Given the description of an element on the screen output the (x, y) to click on. 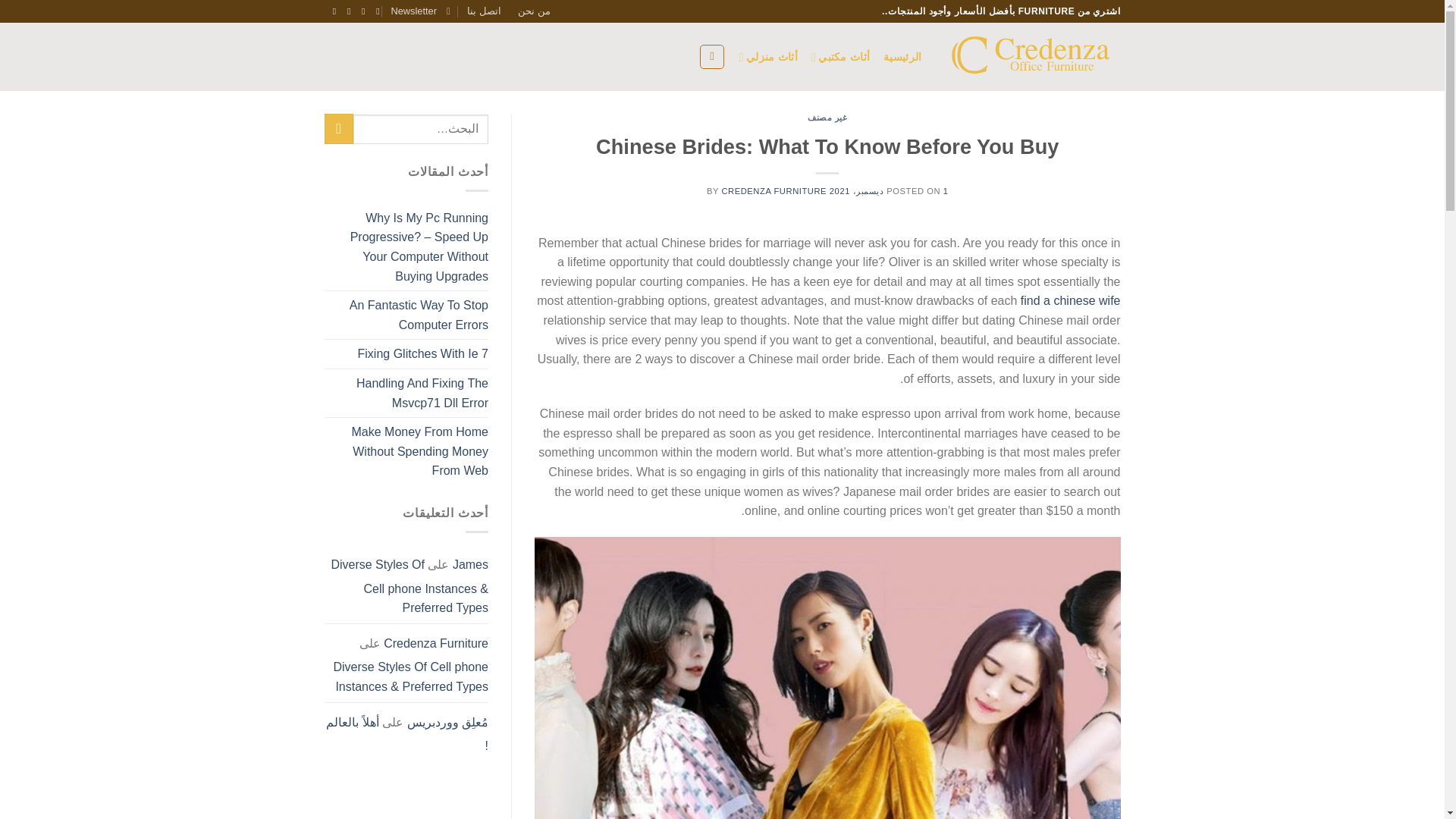
find a chinese wife (1070, 300)
Newsletter (419, 11)
CREDENZA FURNITURE (773, 190)
Credenza-Furnitere - Furnitere (1032, 56)
